Given the description of an element on the screen output the (x, y) to click on. 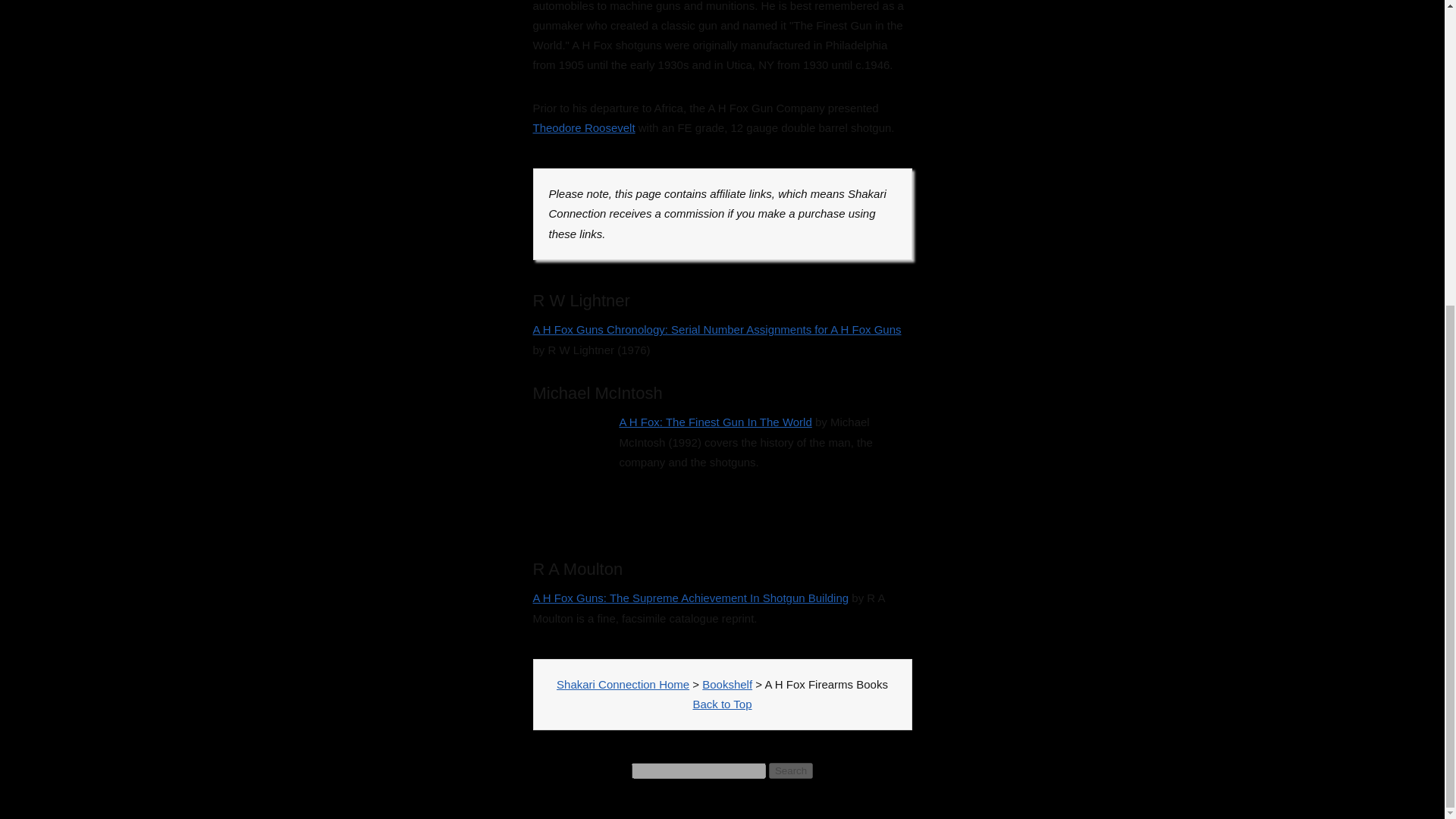
Shakari Connection Home (622, 684)
A. H. Fox: The Finest Gun In The World (572, 475)
Search (790, 770)
Theodore Roosevelt (583, 127)
A H Fox: The Finest Gun In The World (714, 421)
A H Fox Guns: The Supreme Achievement In Shotgun Building (690, 597)
Bookshelf (726, 684)
Back to Top (722, 703)
